Given the description of an element on the screen output the (x, y) to click on. 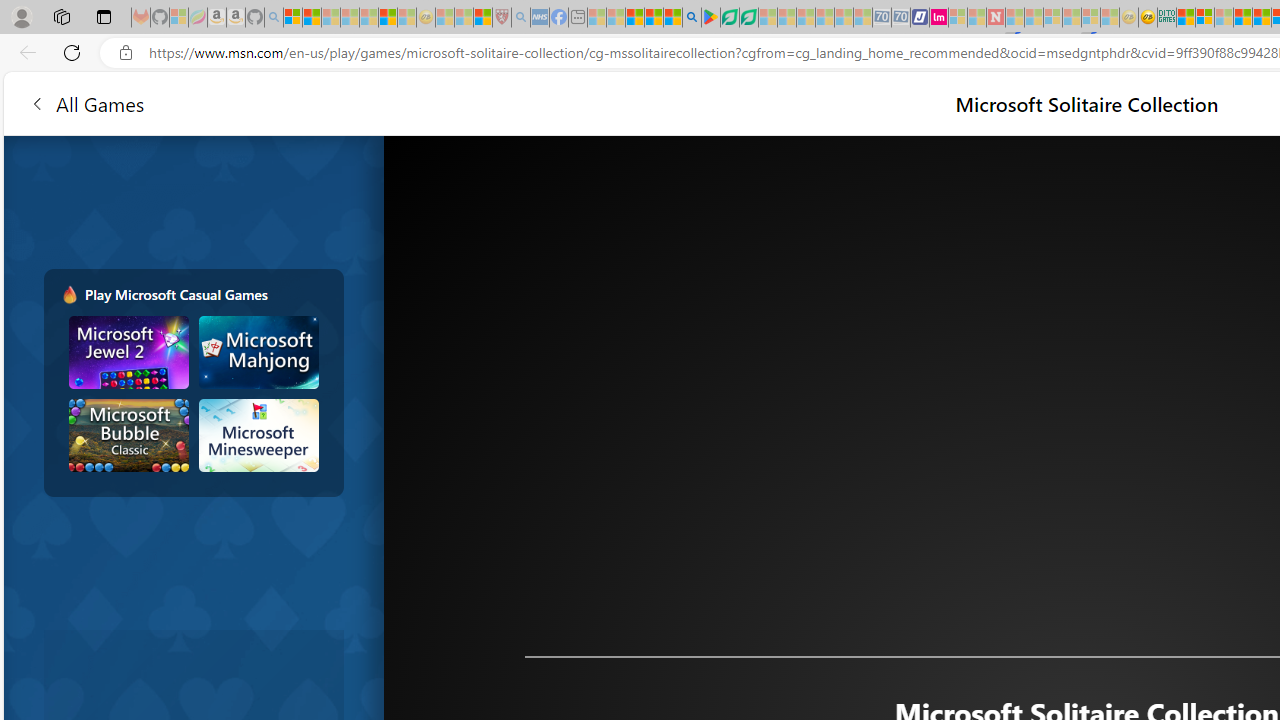
Microsoft Bubble Classic (129, 435)
Bluey: Let's Play! - Apps on Google Play (710, 17)
Microsoft Jewel 2 (129, 352)
Microsoft Bubble Classic (129, 435)
Jobs - lastminute.com Investor Portal (939, 17)
DITOGAMES AG Imprint (1167, 17)
Cheap Hotels - Save70.com - Sleeping (901, 17)
Cheap Car Rentals - Save70.com - Sleeping (881, 17)
